Given the description of an element on the screen output the (x, y) to click on. 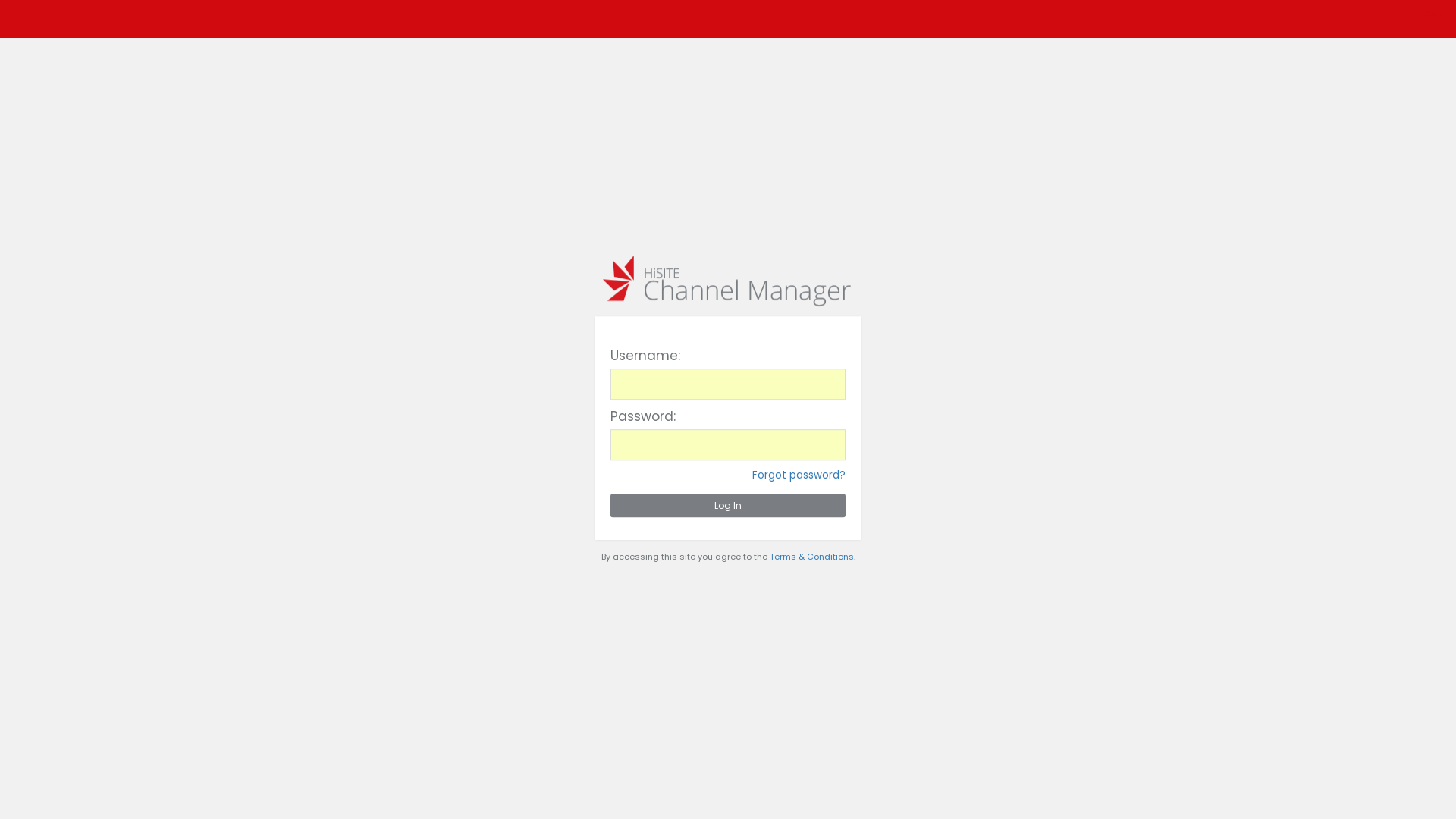
Terms & Conditions Element type: text (810, 556)
Log In Element type: text (727, 505)
Forgot password? Element type: text (798, 474)
